Given the description of an element on the screen output the (x, y) to click on. 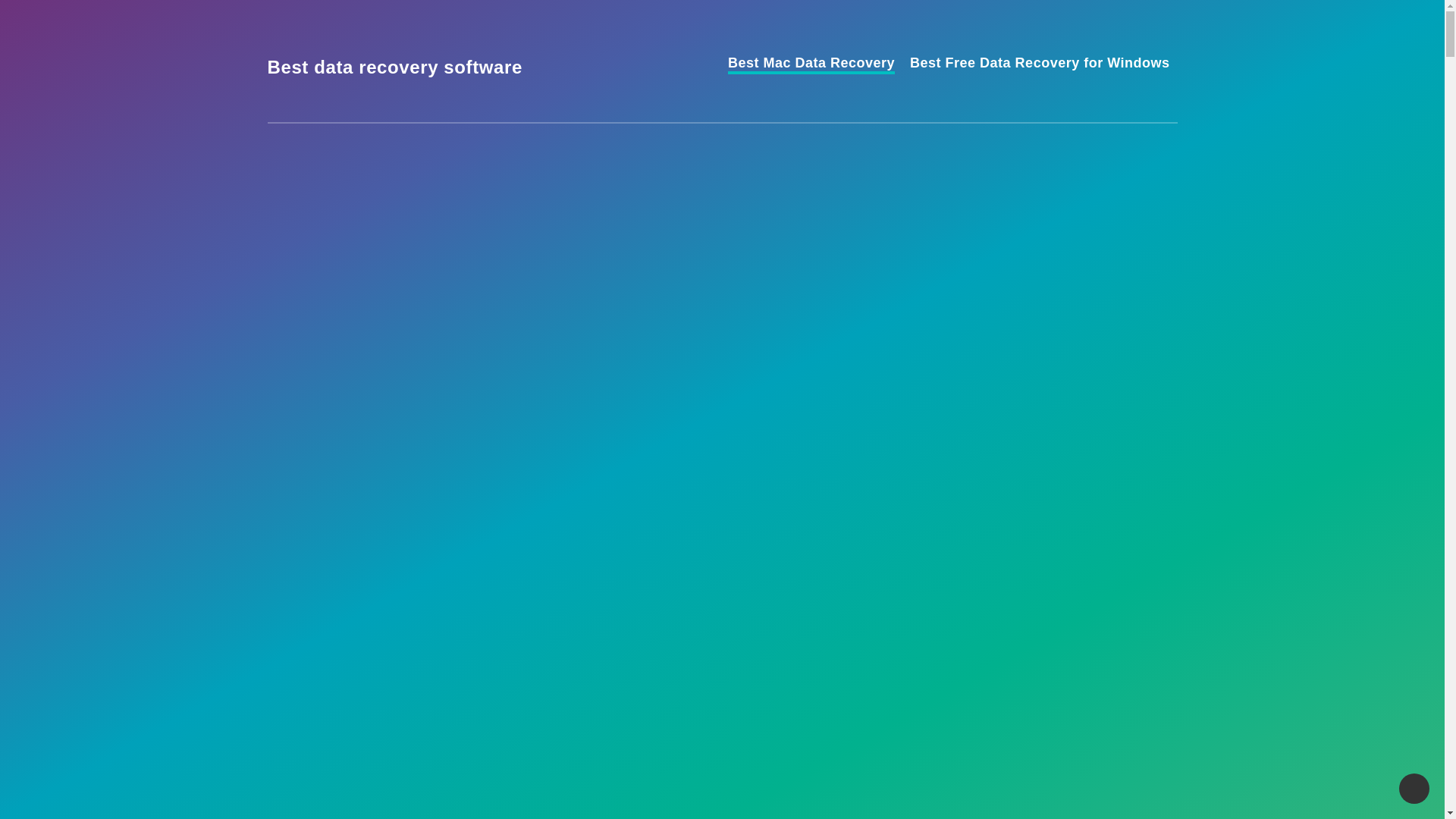
Best Mac Data Recovery (811, 64)
Best Free Data Recovery for Windows (1039, 64)
Best data recovery software (393, 67)
